Given the description of an element on the screen output the (x, y) to click on. 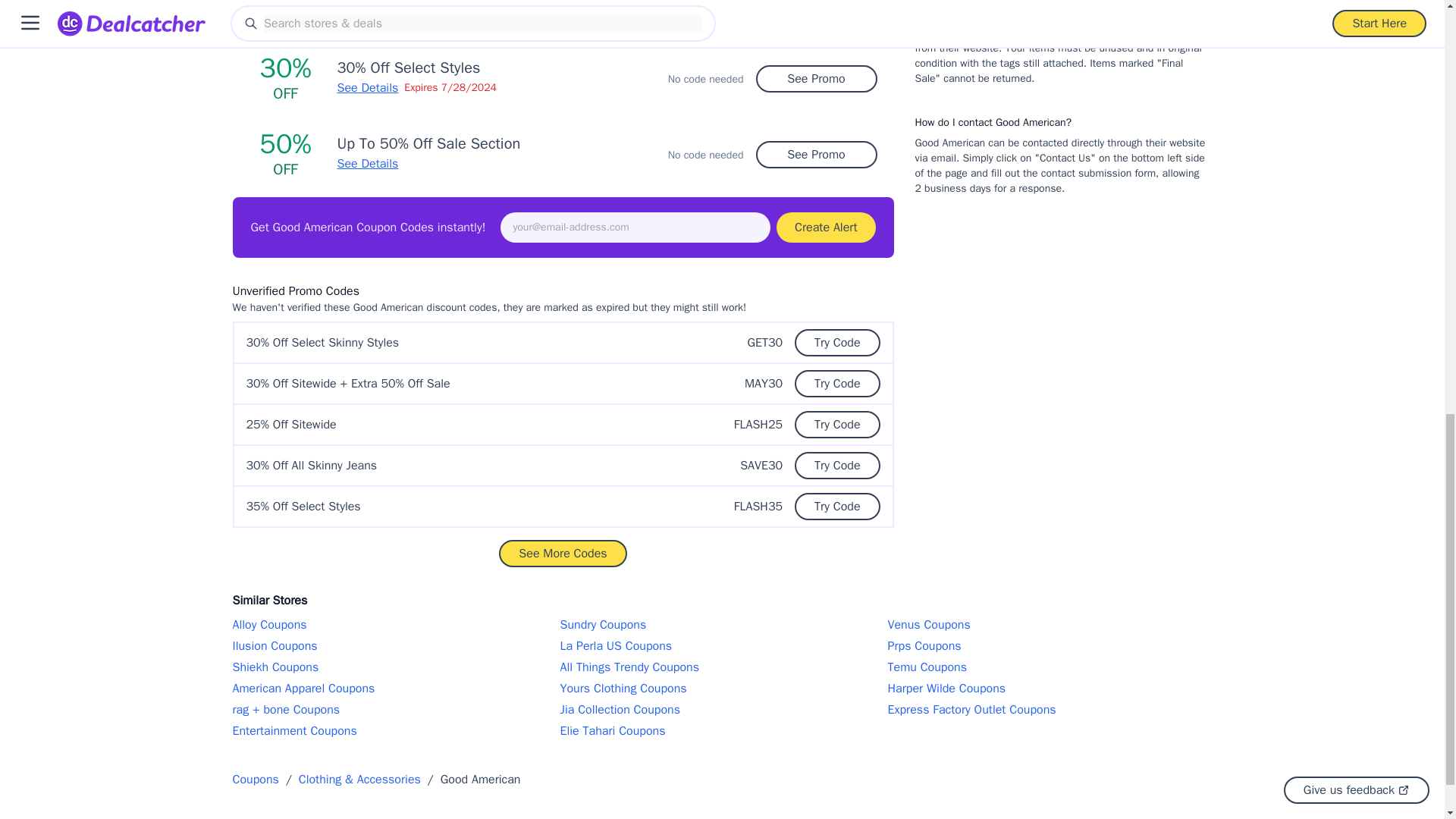
All Things Trendy Coupons (721, 667)
Ilusion Coupons (393, 646)
Alloy Coupons (393, 624)
Prps Coupons (1048, 646)
Temu Coupons (1048, 667)
See More Codes (562, 553)
La Perla US Coupons (721, 646)
American Apparel Coupons (393, 688)
Create Alert (825, 227)
Sundry Coupons (721, 624)
Shiekh Coupons (393, 667)
Venus Coupons (1048, 624)
